Given the description of an element on the screen output the (x, y) to click on. 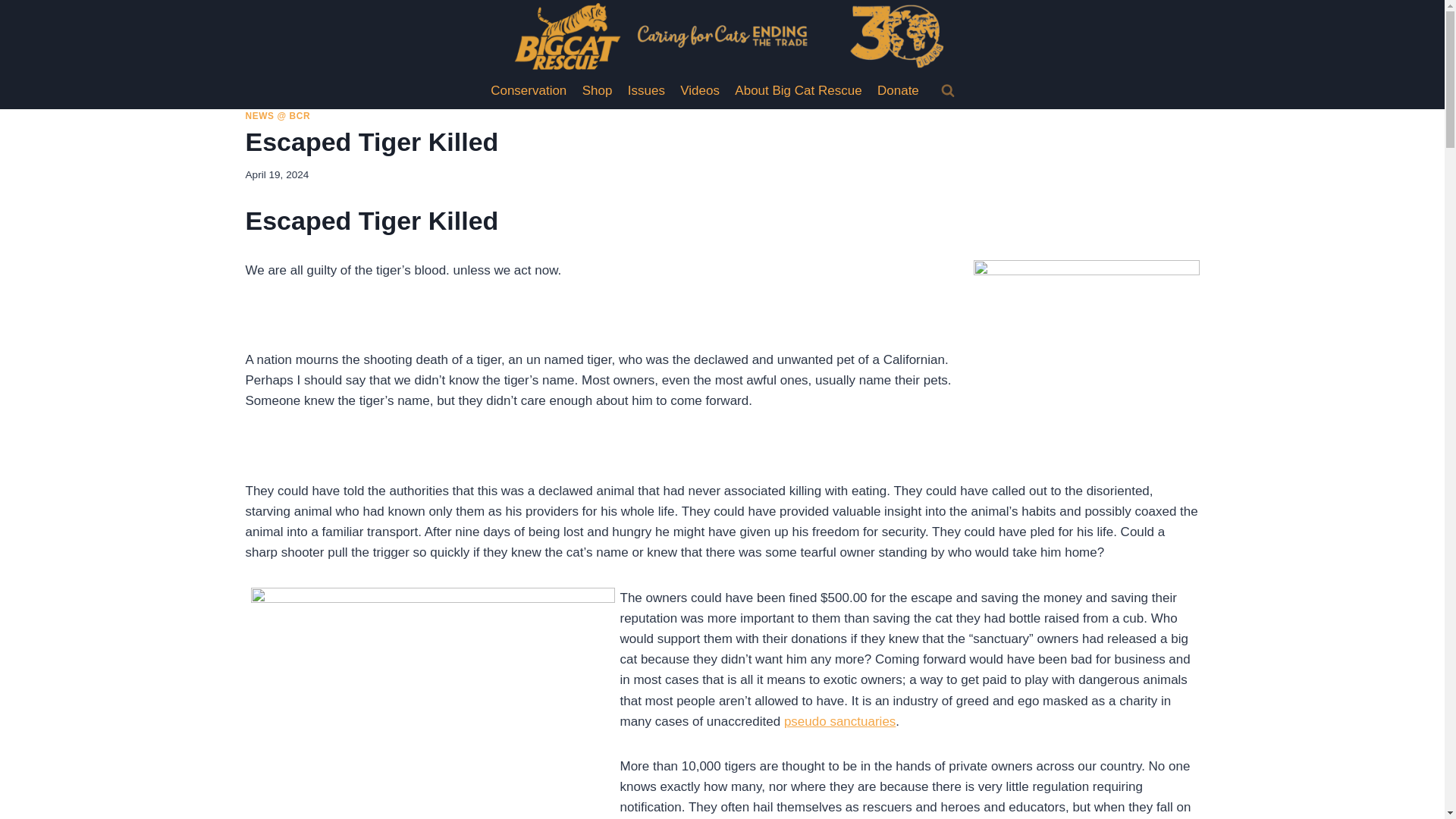
Issues (646, 90)
Conservation (529, 90)
pseudo sanctuaries (839, 721)
Videos (699, 90)
About Big Cat Rescue (797, 90)
Shop (597, 90)
Donate (897, 90)
